Given the description of an element on the screen output the (x, y) to click on. 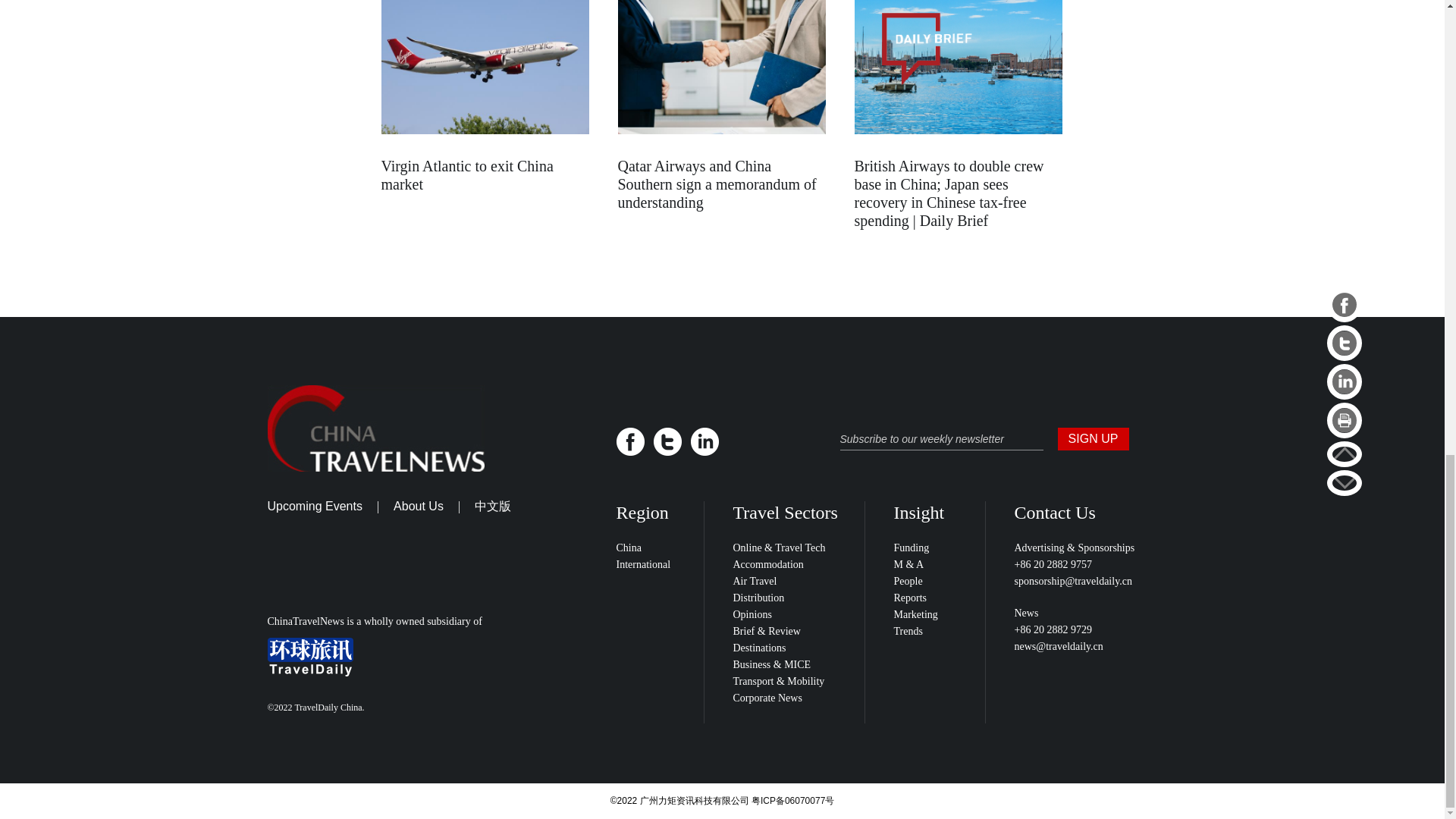
SIGN UP (1092, 438)
Upcoming Events (313, 505)
Virgin Atlantic to exit China market (466, 175)
About Us (418, 505)
